Given the description of an element on the screen output the (x, y) to click on. 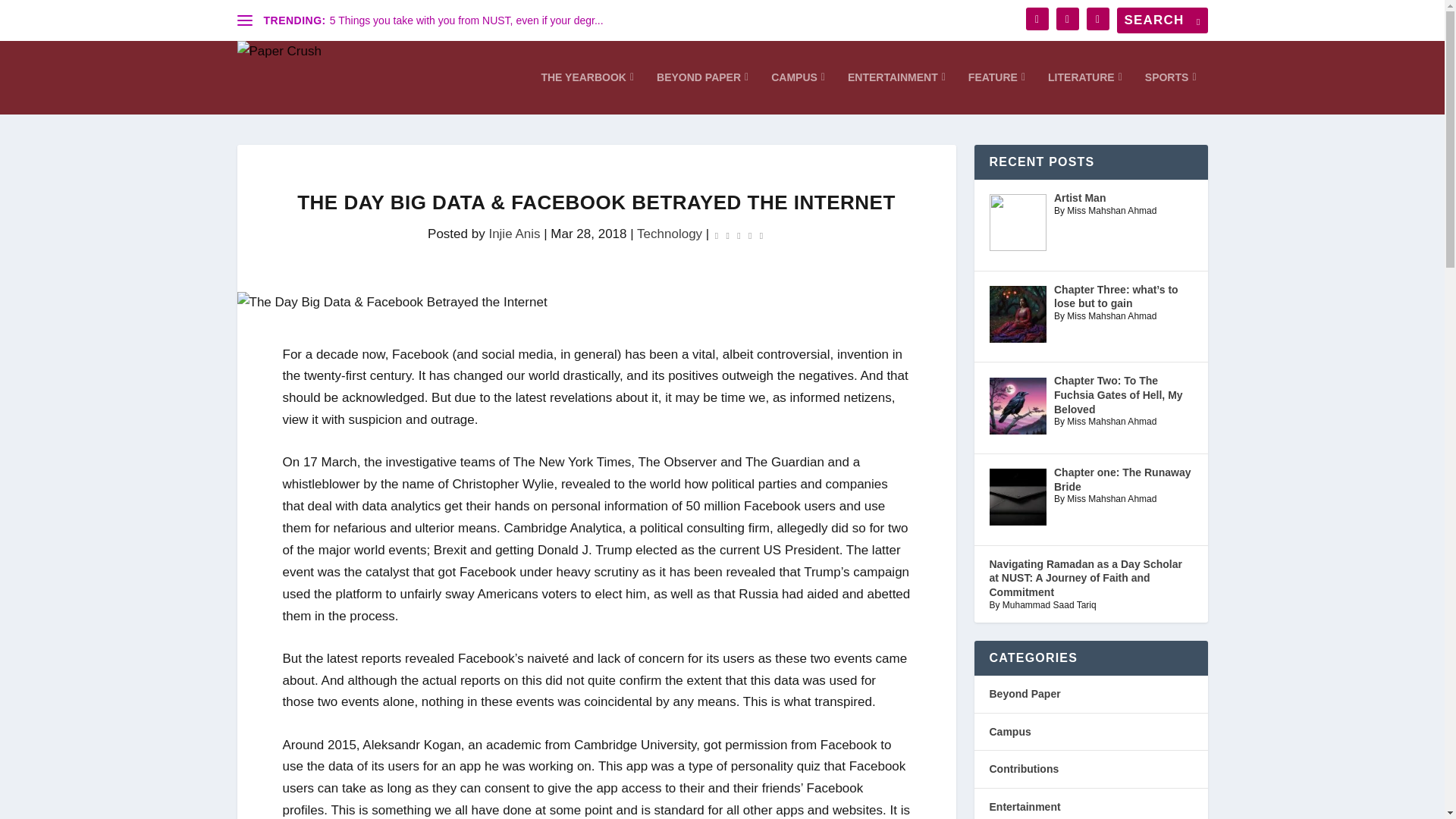
5 Things you take with you from NUST, even if your degr... (467, 20)
BEYOND PAPER (702, 93)
THE YEARBOOK (586, 93)
RECENT (1034, 119)
Search for: (1161, 20)
